Given the description of an element on the screen output the (x, y) to click on. 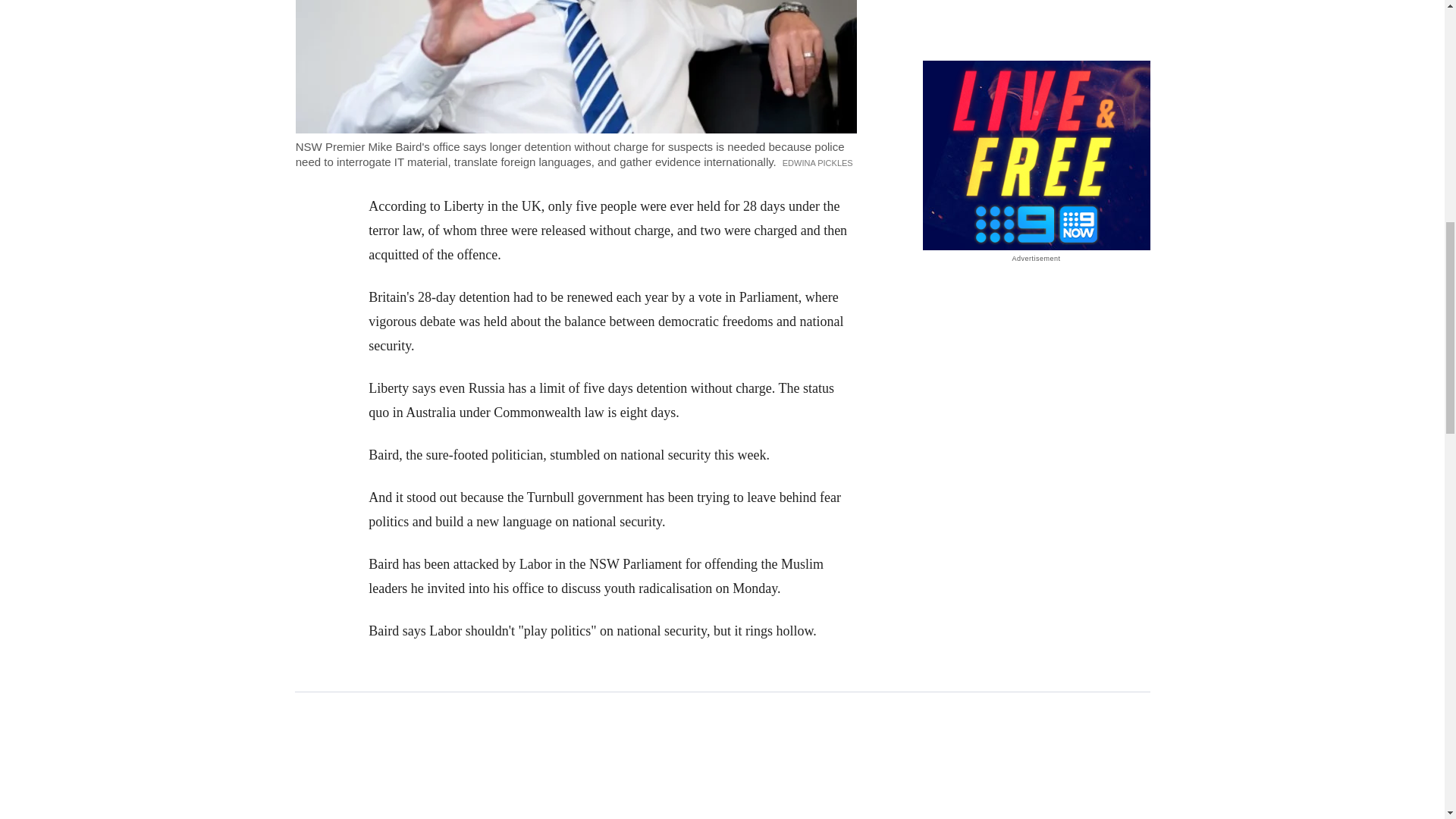
3rd party ad content (722, 764)
3rd party ad content (1035, 22)
